Given the description of an element on the screen output the (x, y) to click on. 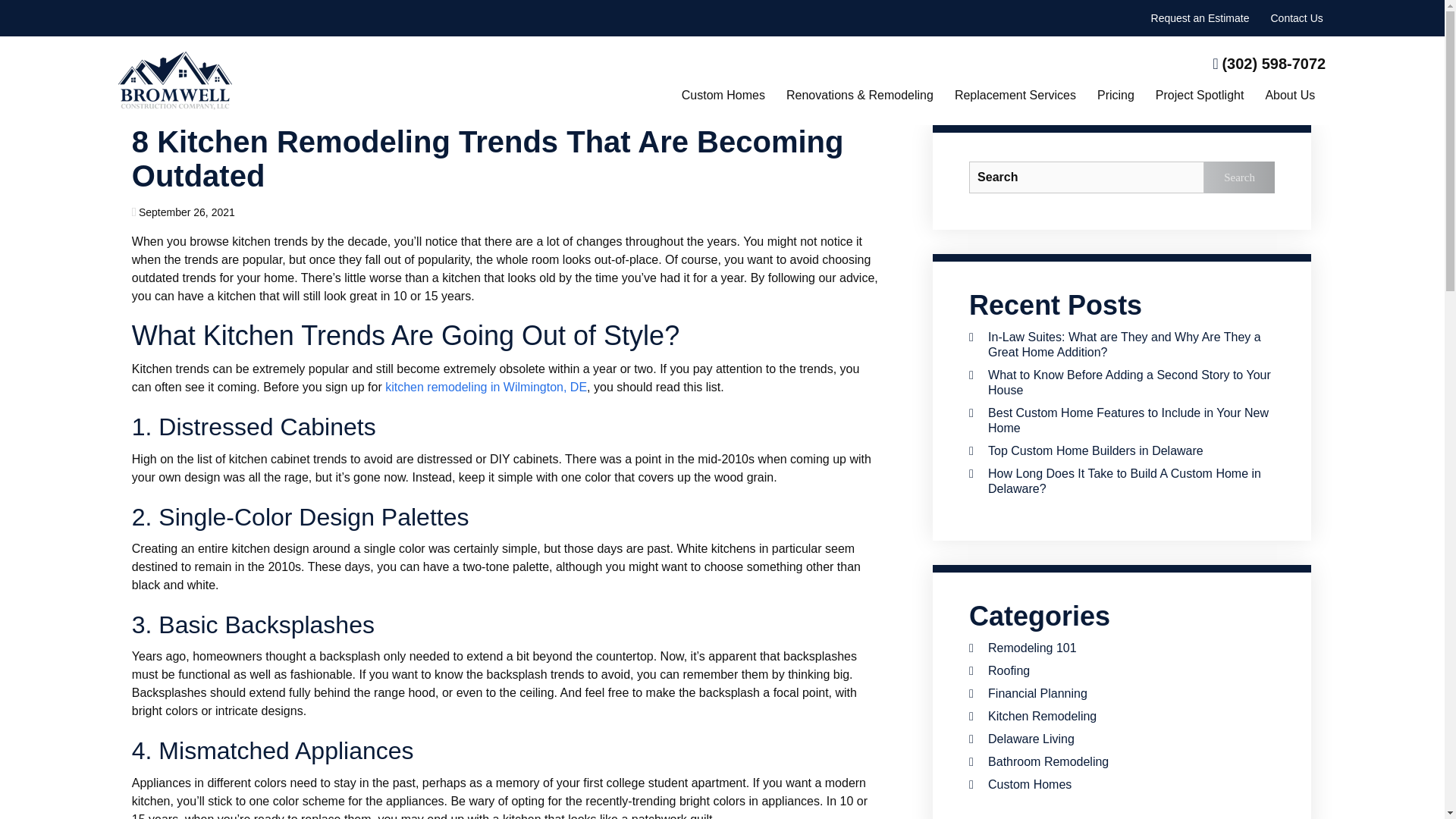
Pricing (1115, 95)
Contact Us (1296, 18)
Custom Homes (723, 95)
Bromwell Construction Company (174, 80)
About Us (1289, 95)
Request an Estimate (1200, 18)
Project Spotlight (1200, 95)
Replacement Services (1015, 95)
